Given the description of an element on the screen output the (x, y) to click on. 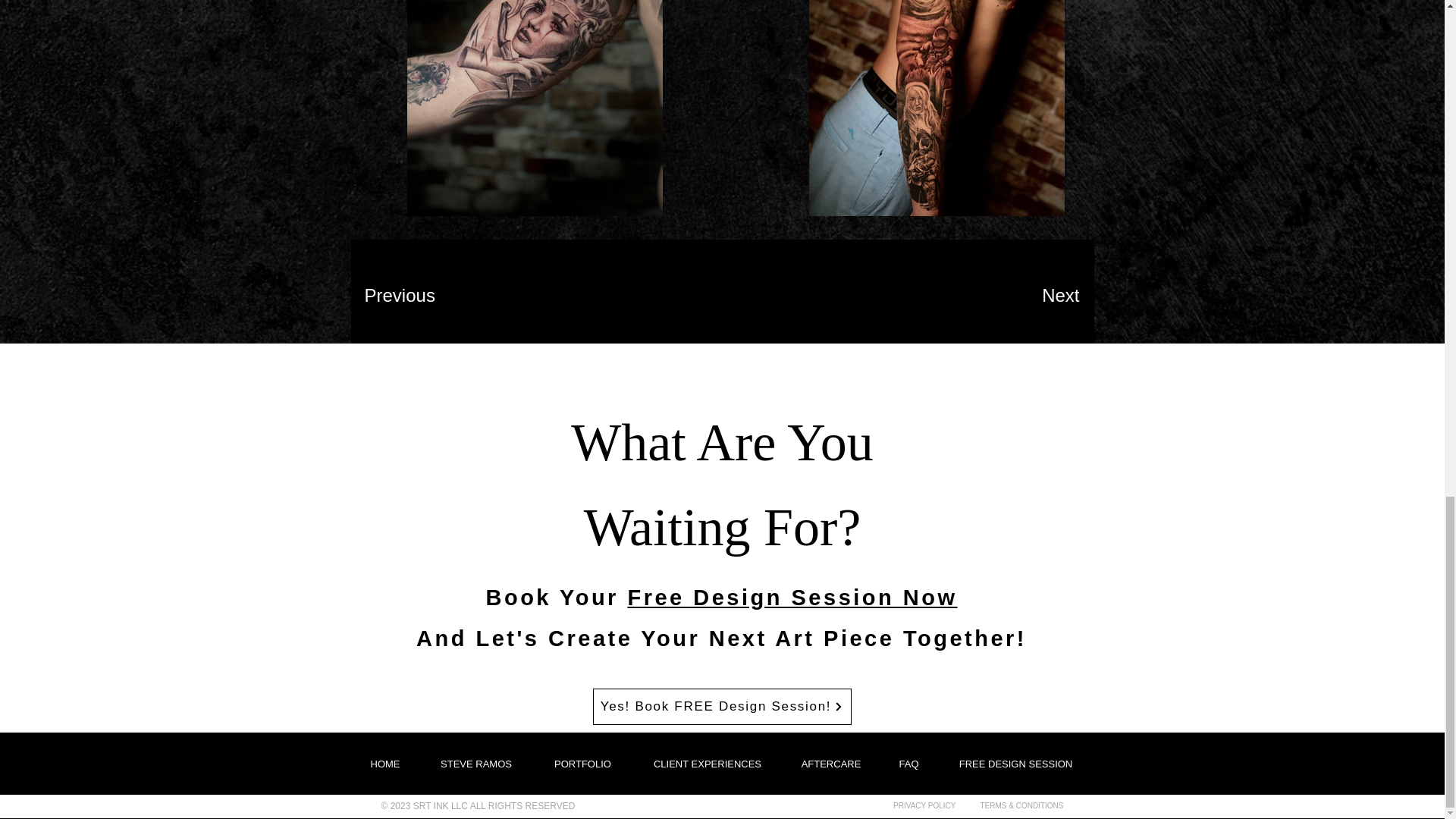
Next (1029, 295)
Previous (417, 295)
Yes! Book FREE Design Session! (721, 706)
